Given the description of an element on the screen output the (x, y) to click on. 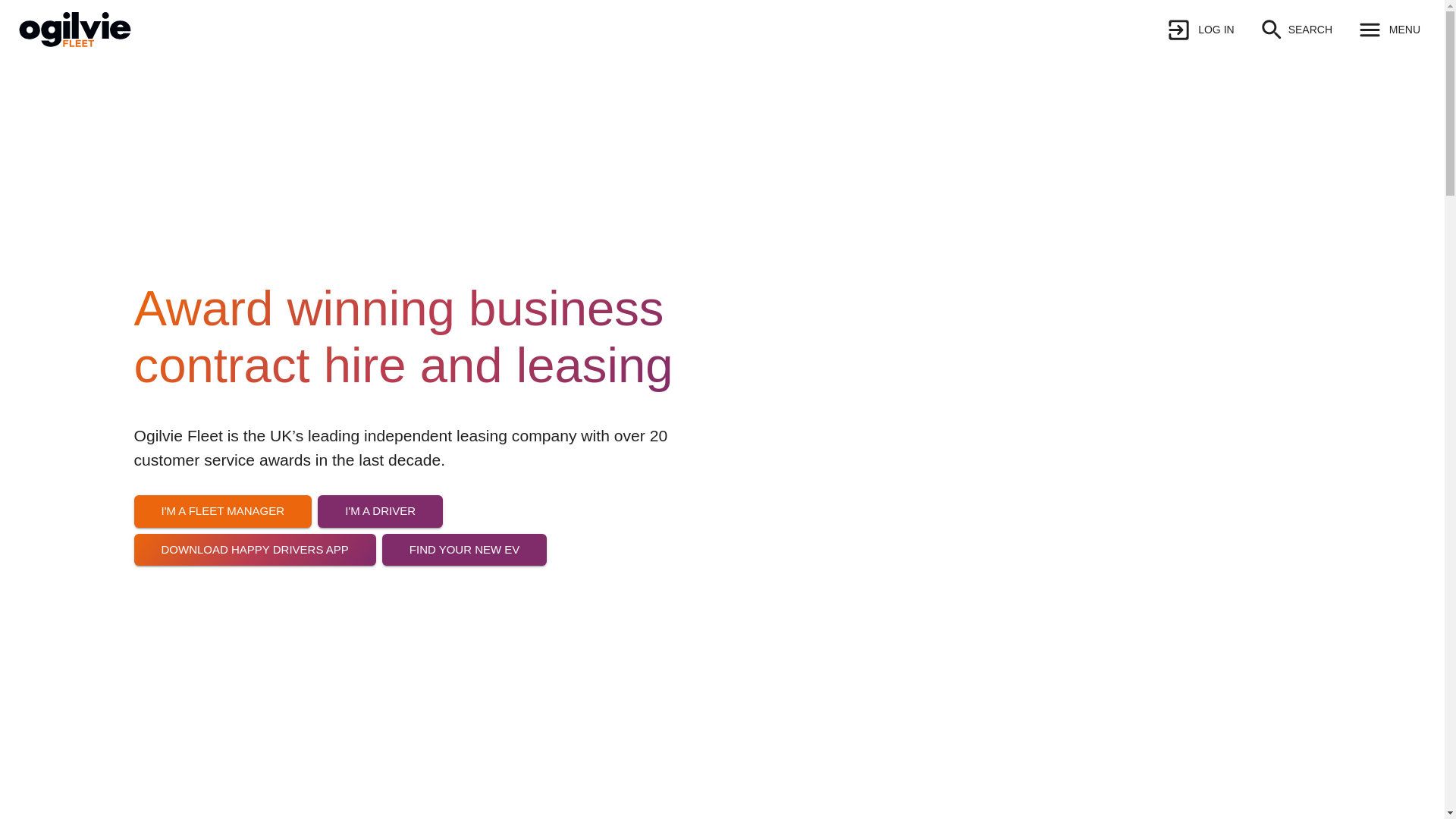
FIND YOUR NEW EV (464, 608)
I'M A DRIVER (379, 578)
I'M A FLEET MANAGER (222, 582)
  LOG IN (1199, 29)
DOWNLOAD HAPPY DRIVERS APP (254, 612)
